Given the description of an element on the screen output the (x, y) to click on. 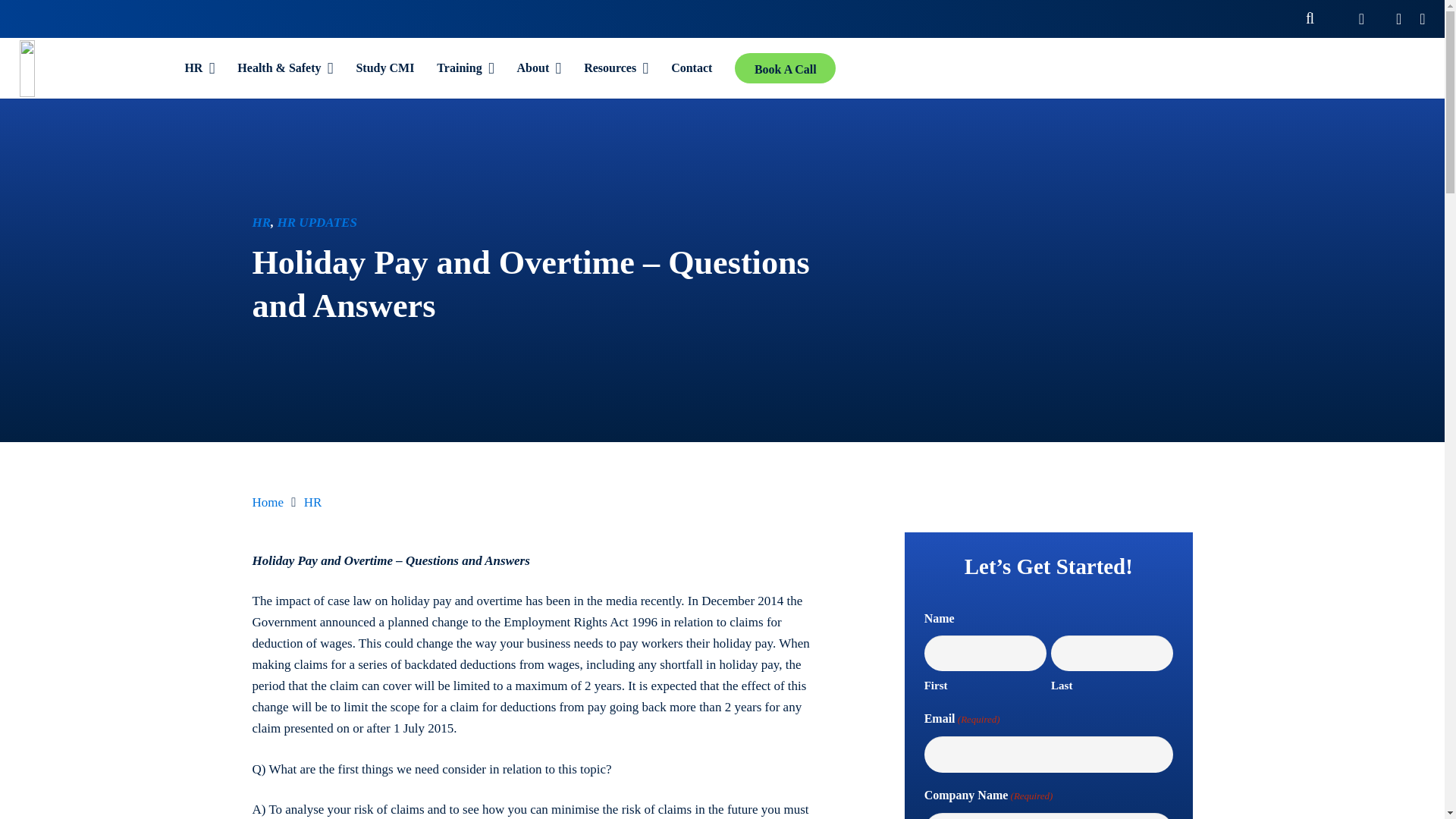
Training (465, 67)
About (539, 67)
Study CMI (384, 67)
